Given the description of an element on the screen output the (x, y) to click on. 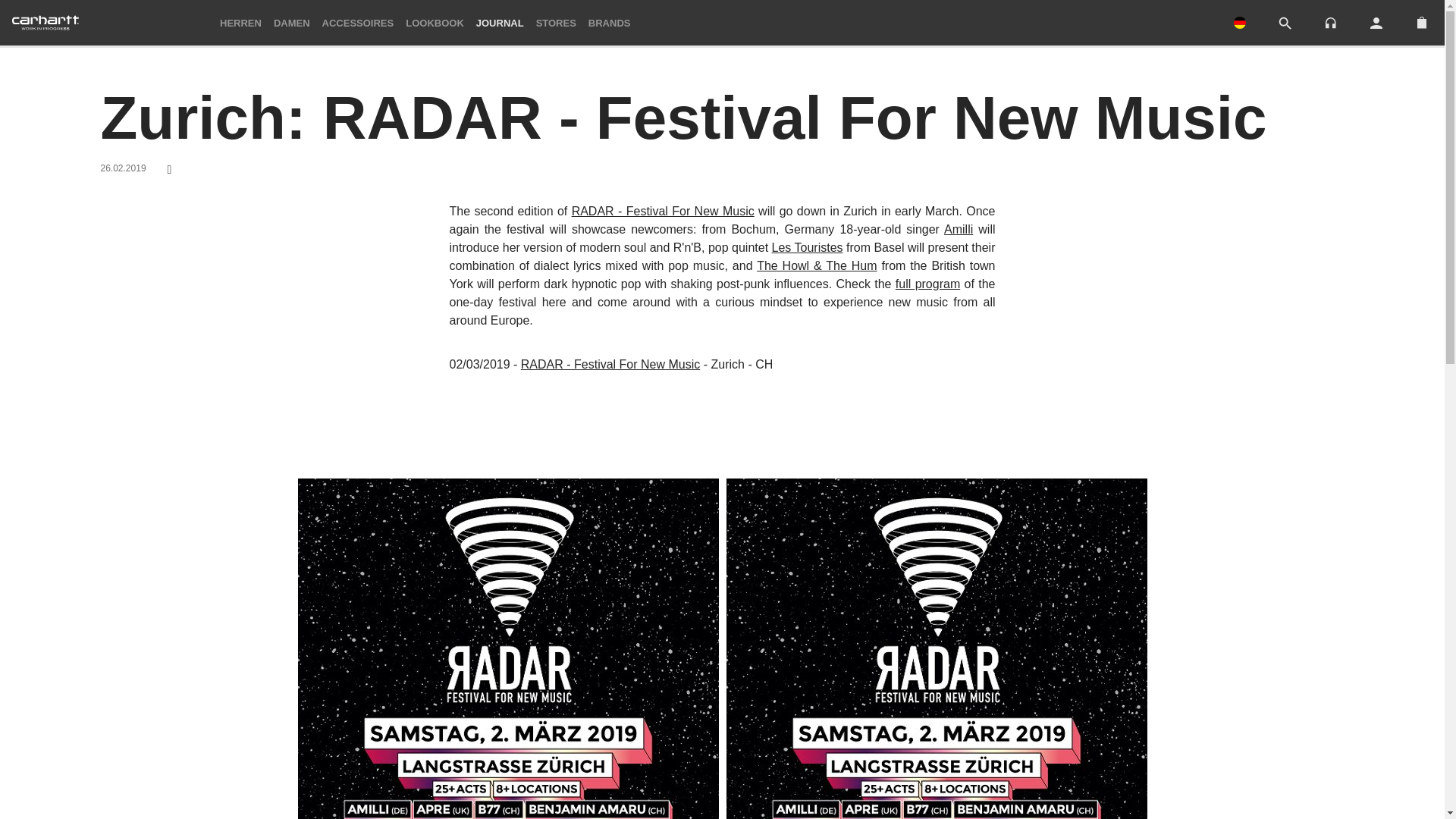
Radio (1330, 21)
Suche (1284, 22)
Anmelden (1376, 22)
Suche (1285, 23)
Radio (1330, 22)
